Given the description of an element on the screen output the (x, y) to click on. 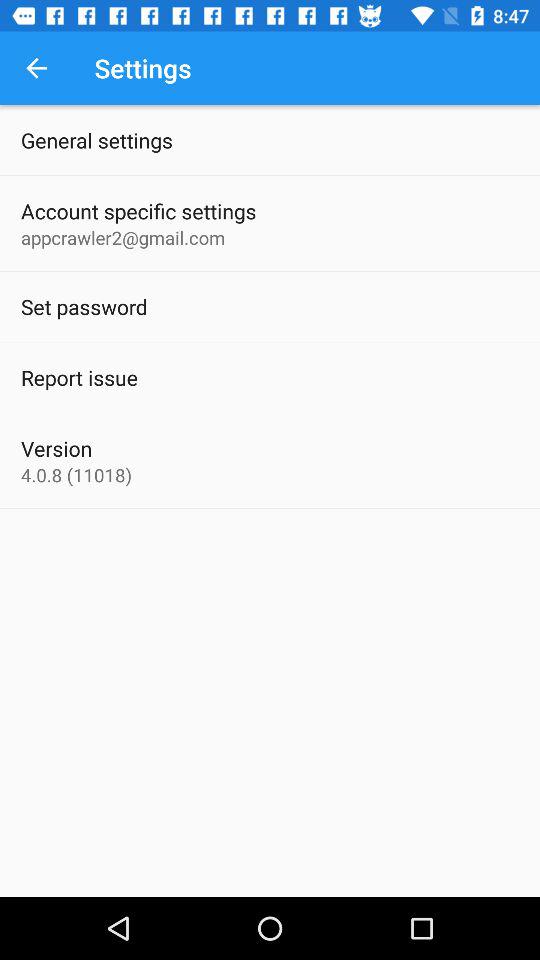
open the icon to the left of the settings (36, 68)
